Given the description of an element on the screen output the (x, y) to click on. 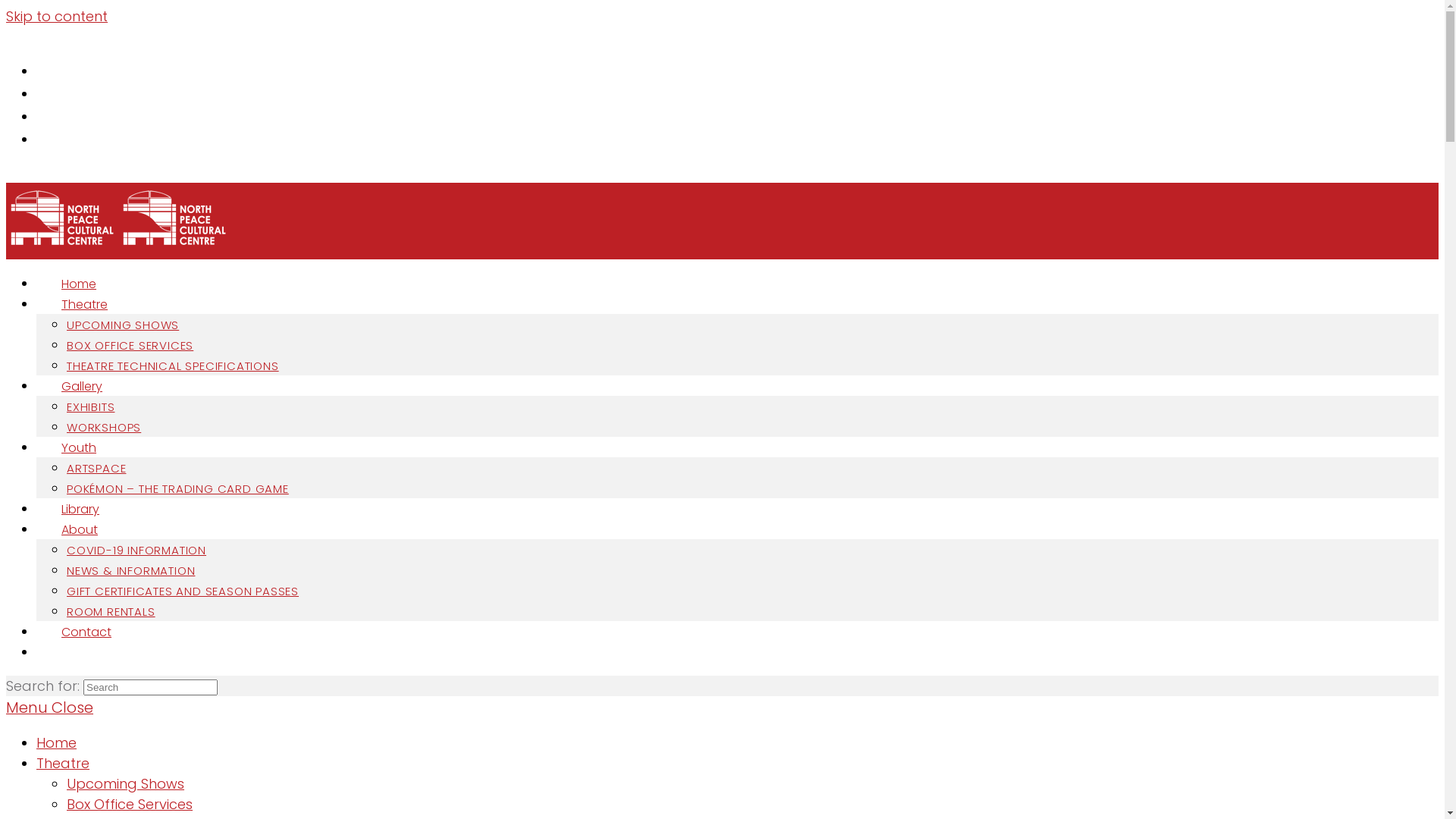
WORKSHOPS Element type: text (103, 427)
About Element type: text (75, 529)
Theatre Element type: text (62, 762)
COVID-19 INFORMATION Element type: text (136, 550)
Menu Close Element type: text (49, 707)
Box Office Services Element type: text (129, 803)
Gallery Element type: text (77, 386)
Youth Element type: text (74, 447)
THEATRE TECHNICAL SPECIFICATIONS Element type: text (172, 365)
GIFT CERTIFICATES AND SEASON PASSES Element type: text (182, 591)
Home Element type: text (56, 742)
NEWS & INFORMATION Element type: text (130, 570)
Contact Element type: text (82, 631)
ROOM RENTALS Element type: text (110, 611)
UPCOMING SHOWS Element type: text (122, 324)
Home Element type: text (74, 283)
ARTSPACE Element type: text (95, 468)
Upcoming Shows Element type: text (125, 783)
BOX OFFICE SERVICES Element type: text (129, 345)
Library Element type: text (76, 508)
Skip to content Element type: text (56, 15)
EXHIBITS Element type: text (90, 406)
Theatre Element type: text (80, 304)
